Given the description of an element on the screen output the (x, y) to click on. 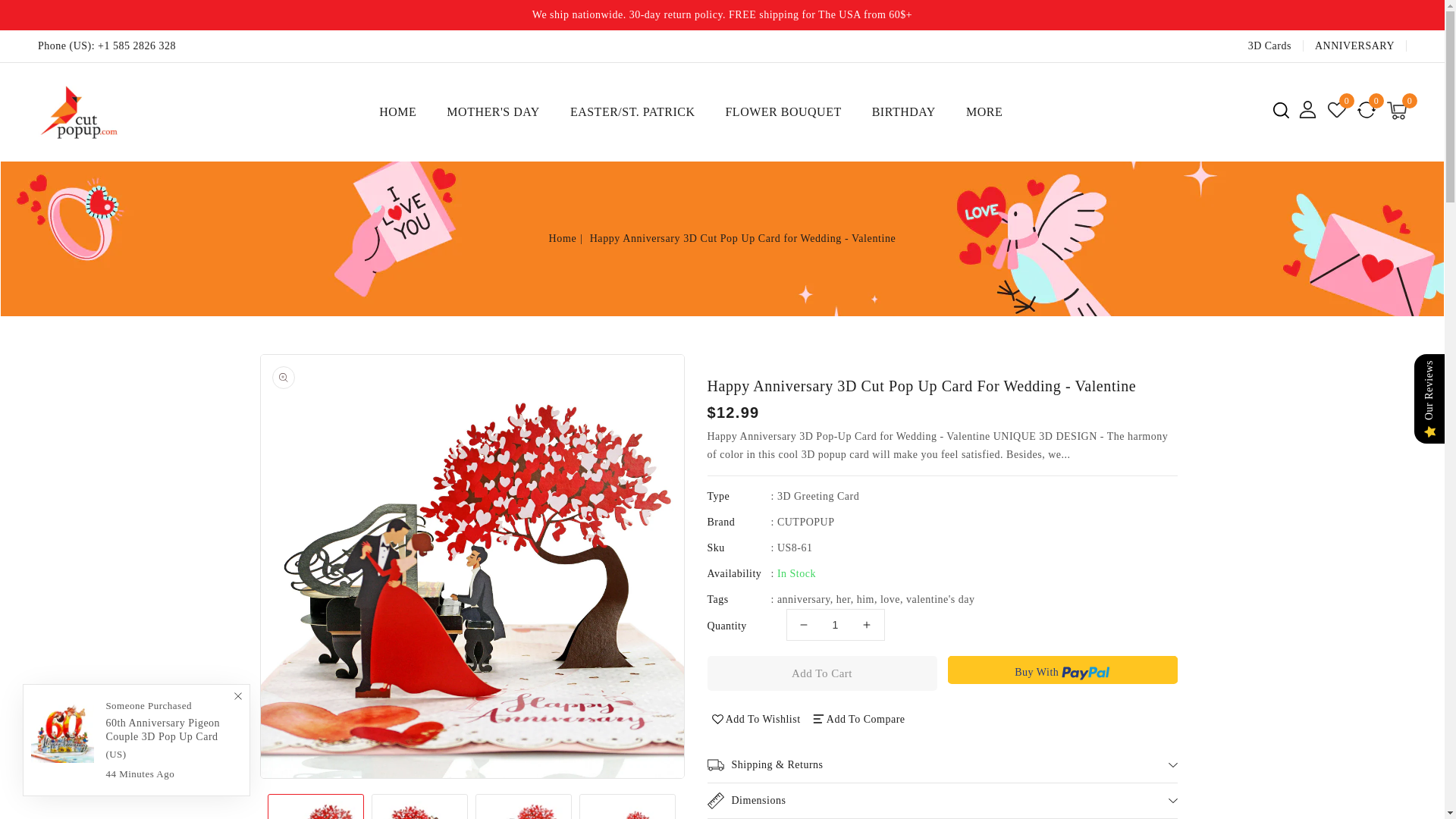
HOME (397, 112)
Created by potrace 1.16, written by Peter Selinger 2001-2019 (1280, 109)
Skip To Content (16, 13)
FLOWER BOUQUET (783, 112)
Home (567, 238)
1 (834, 624)
MORE (984, 111)
ANNIVERSARY (1354, 45)
MOTHER'S DAY (492, 112)
3D Cards (1269, 45)
3D Greeting Card (818, 496)
CUTPOPUP (805, 521)
BIRTHDAY (903, 112)
